Given the description of an element on the screen output the (x, y) to click on. 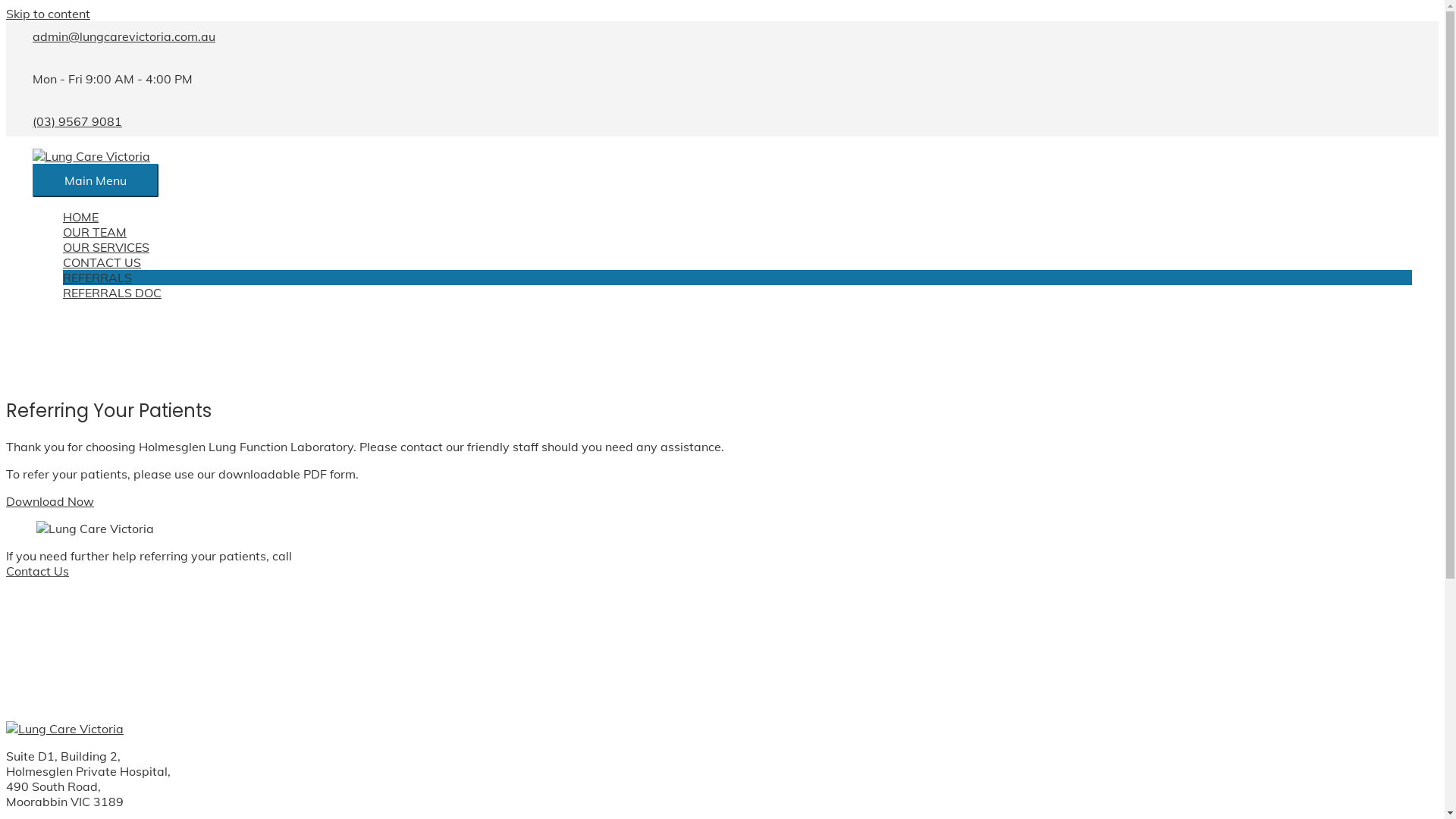
OUR TEAM Element type: text (737, 231)
admin@lungcarevictoria.com.au Element type: text (123, 35)
Skip to content Element type: text (48, 13)
(03) 9567 9081 Element type: text (339, 555)
Contact Us Element type: text (37, 570)
OUR SERVICES Element type: text (737, 246)
(03) 9567 9081 Element type: text (77, 120)
Main Menu Element type: text (95, 180)
HOME Element type: text (737, 216)
Download Now Element type: text (50, 500)
REFERRALS DOC Element type: text (737, 292)
CONTACT US Element type: text (737, 261)
REFERRALS Element type: text (737, 277)
